Given the description of an element on the screen output the (x, y) to click on. 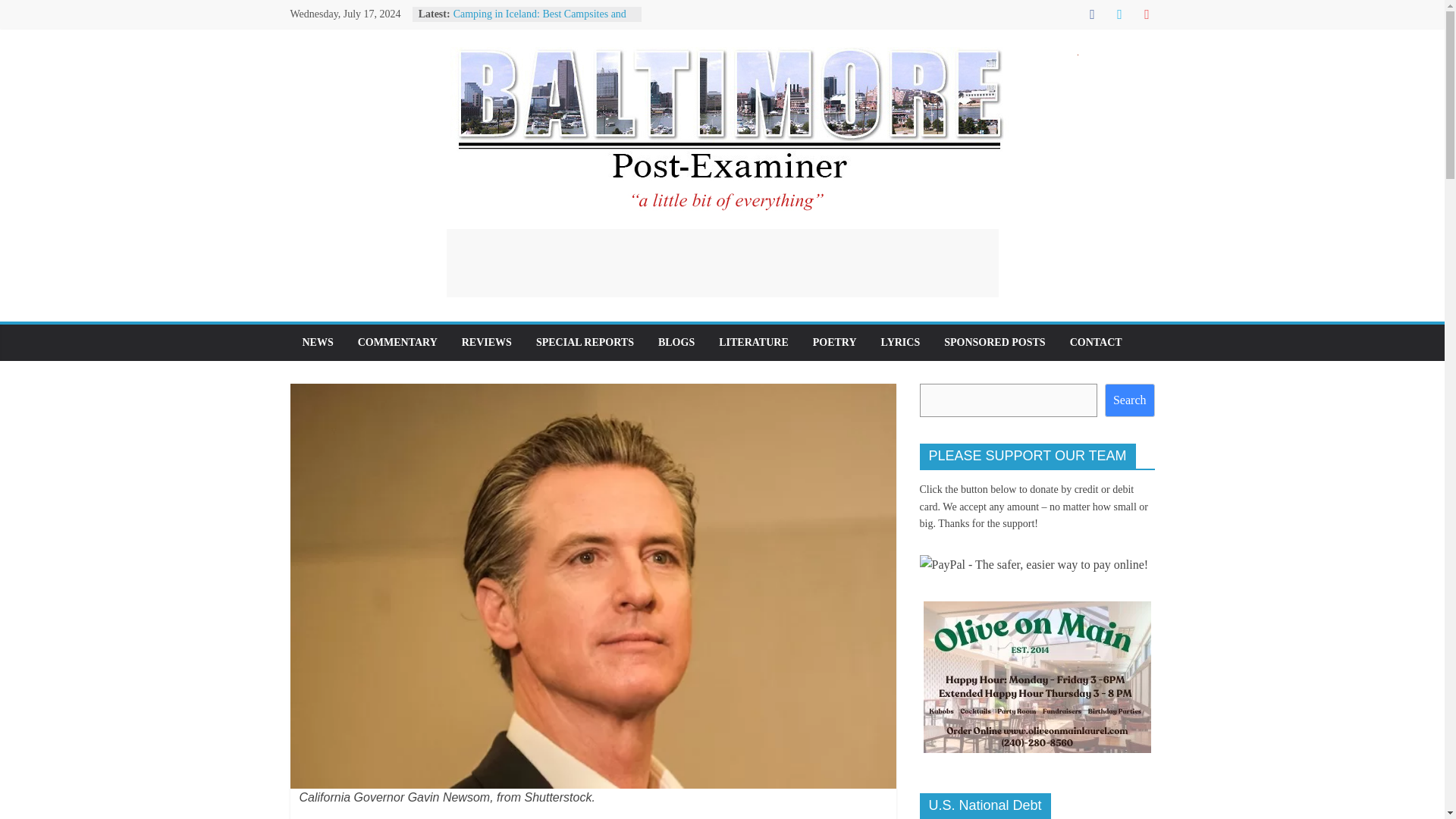
COMMENTARY (397, 342)
POETRY (834, 342)
Camping in Iceland: Best Campsites and Practical Advice (539, 21)
SPECIAL REPORTS (585, 342)
CONTACT (1096, 342)
BLOGS (676, 342)
Camping in Iceland: Best Campsites and Practical Advice (539, 21)
LYRICS (901, 342)
SPONSORED POSTS (994, 342)
REVIEWS (486, 342)
LITERATURE (753, 342)
Advertisement (721, 263)
NEWS (317, 342)
